Given the description of an element on the screen output the (x, y) to click on. 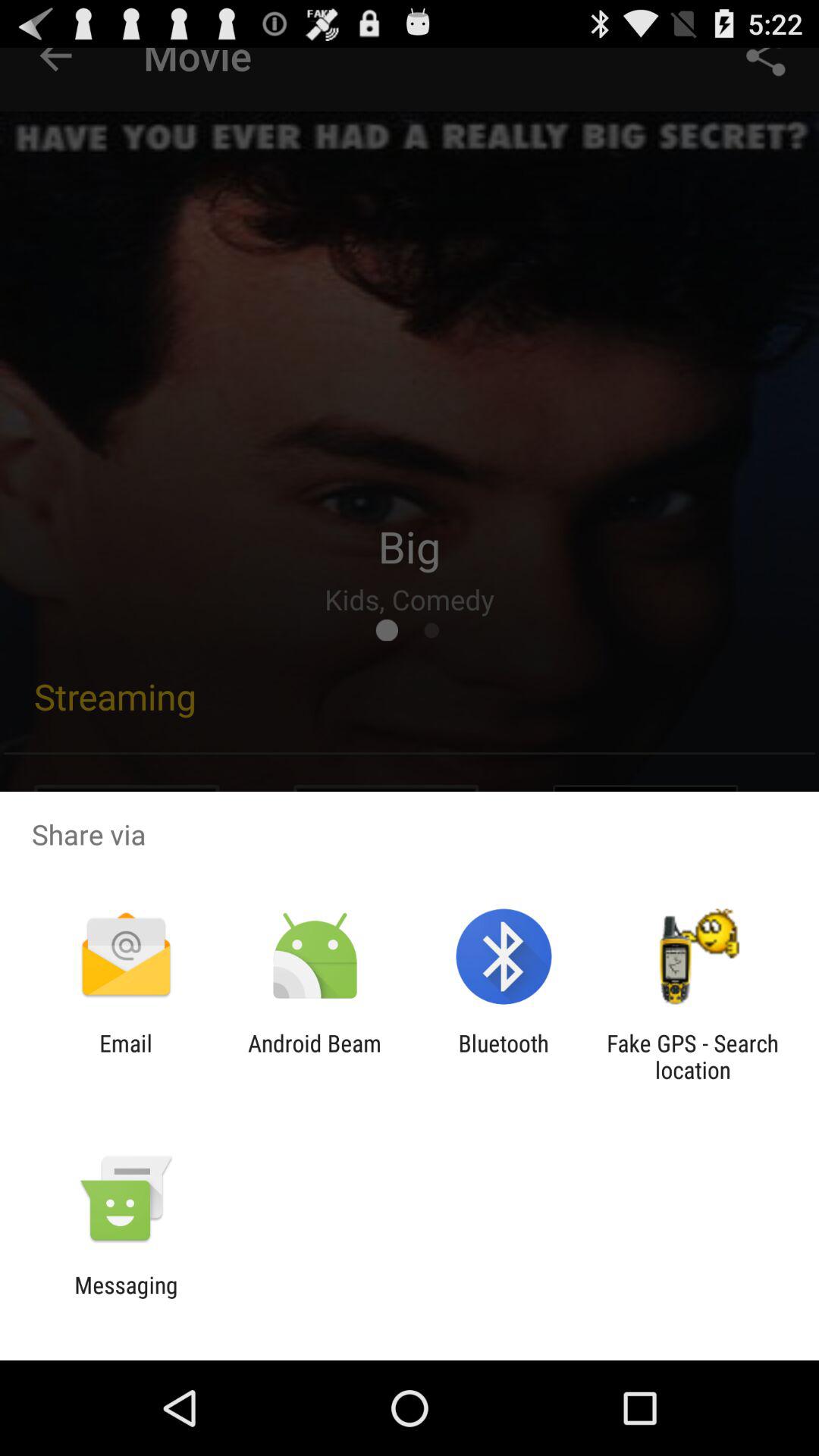
click the icon at the bottom right corner (692, 1056)
